Given the description of an element on the screen output the (x, y) to click on. 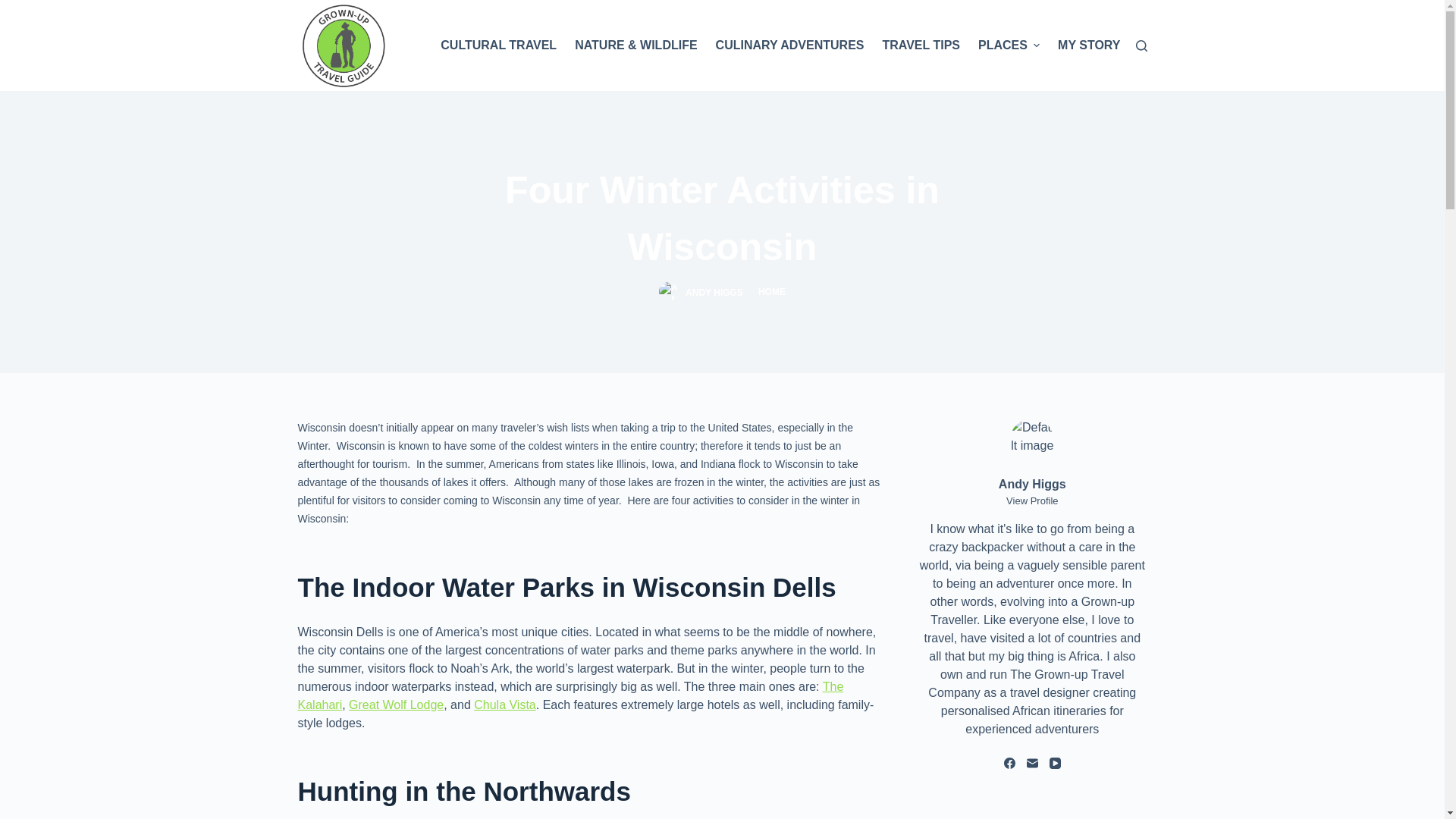
Four Winter Activities in Wisconsin (722, 219)
Posts by Andy Higgs (713, 291)
Skip to content (15, 7)
